Given the description of an element on the screen output the (x, y) to click on. 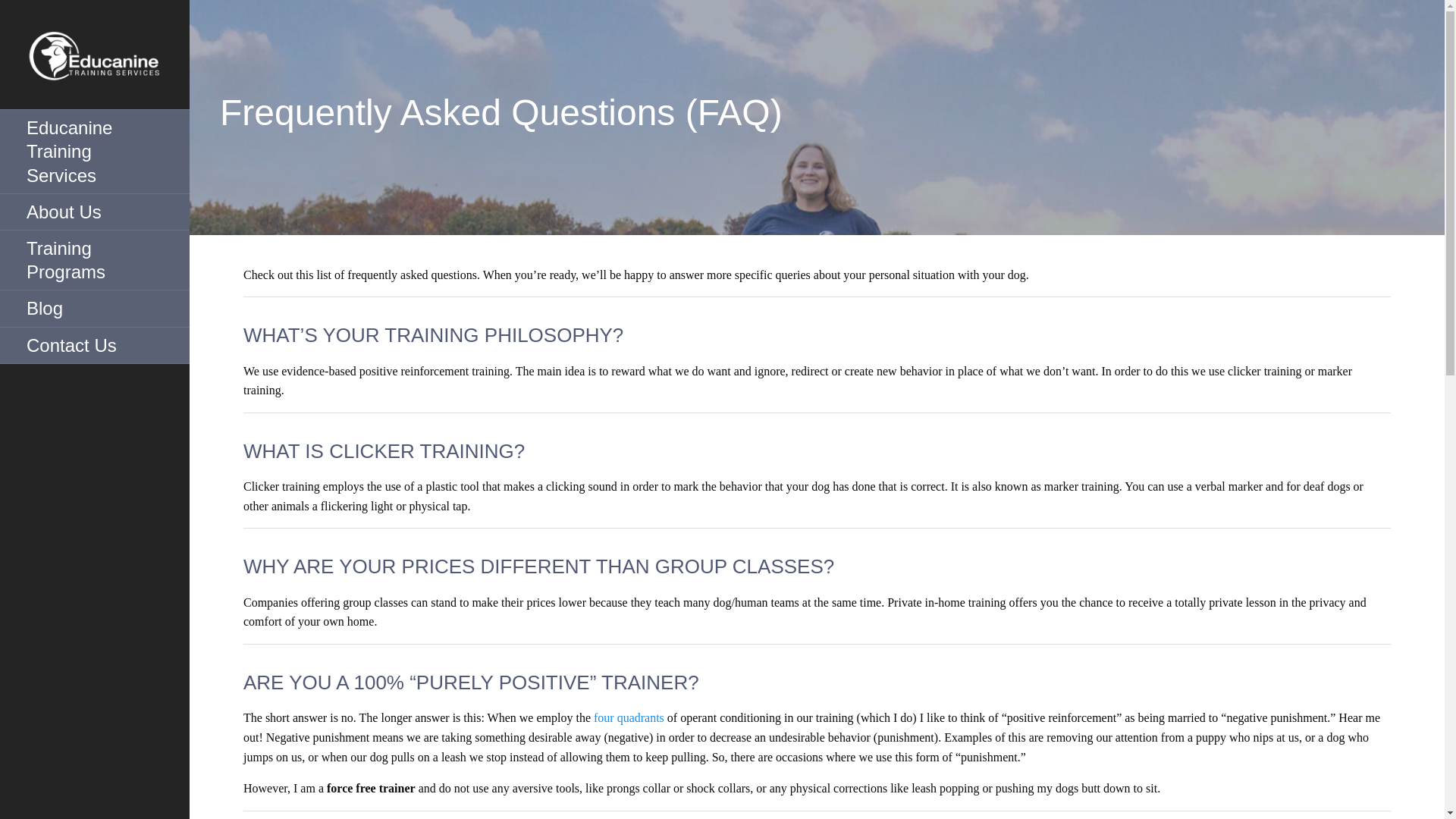
four quadrants (628, 717)
Contact Us (94, 345)
Training Programs (94, 260)
Educanine Training Services (94, 151)
About Us (94, 212)
EDUCANINE TRAINING SERVICES (107, 120)
Blog (94, 308)
